Given the description of an element on the screen output the (x, y) to click on. 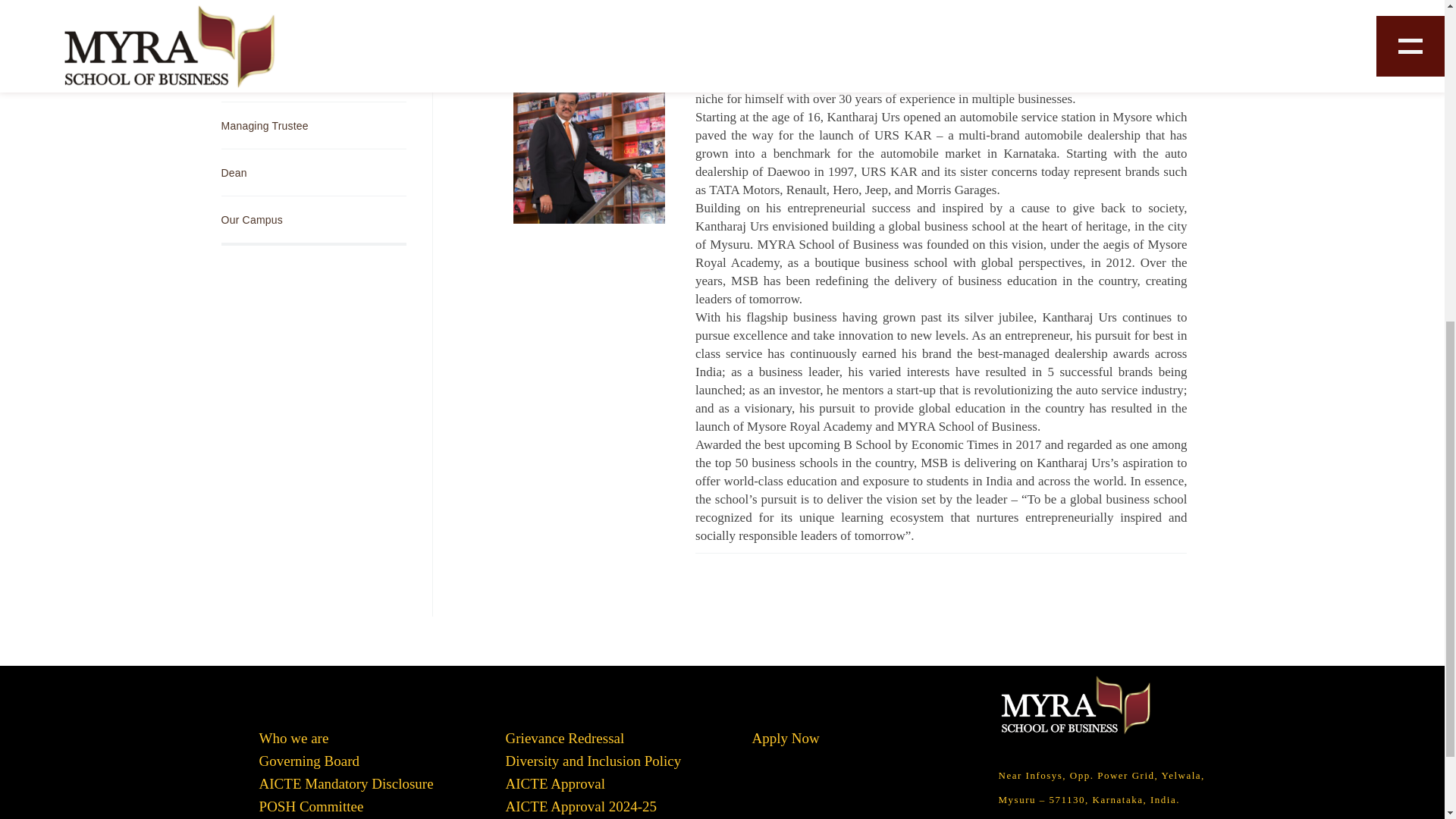
Our Campus (313, 219)
Managing Trustee (313, 125)
Dean (313, 172)
Who we are (294, 737)
Who We Are (313, 31)
Governing Board (313, 78)
